Given the description of an element on the screen output the (x, y) to click on. 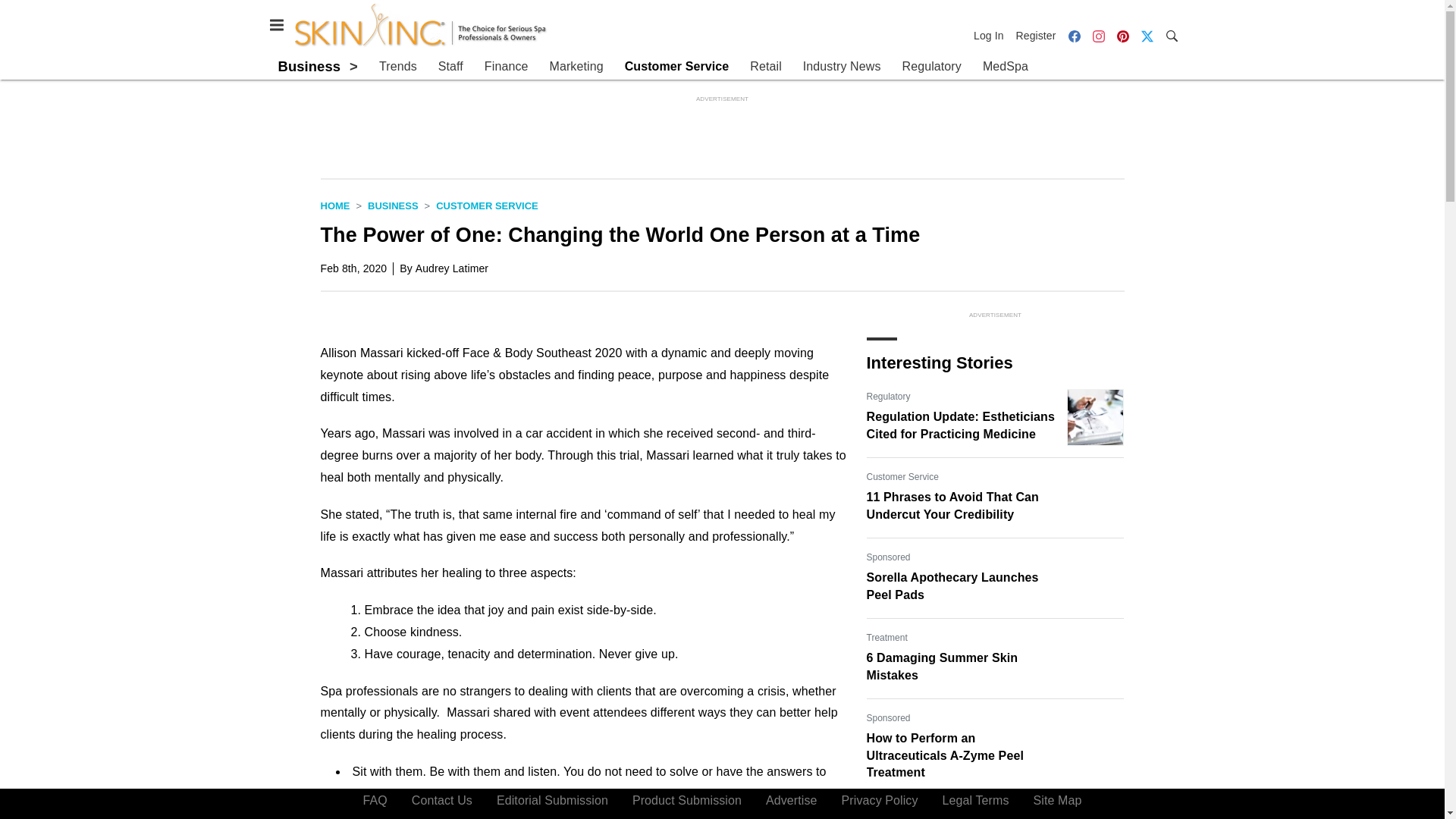
Staff (450, 66)
Instagram icon (1097, 35)
Sponsored (888, 717)
Home (334, 205)
Log In (992, 35)
Retail (765, 66)
Pinterest icon (1122, 36)
Pinterest icon (1121, 35)
Finance (506, 66)
Twitter X icon (1146, 36)
